Given the description of an element on the screen output the (x, y) to click on. 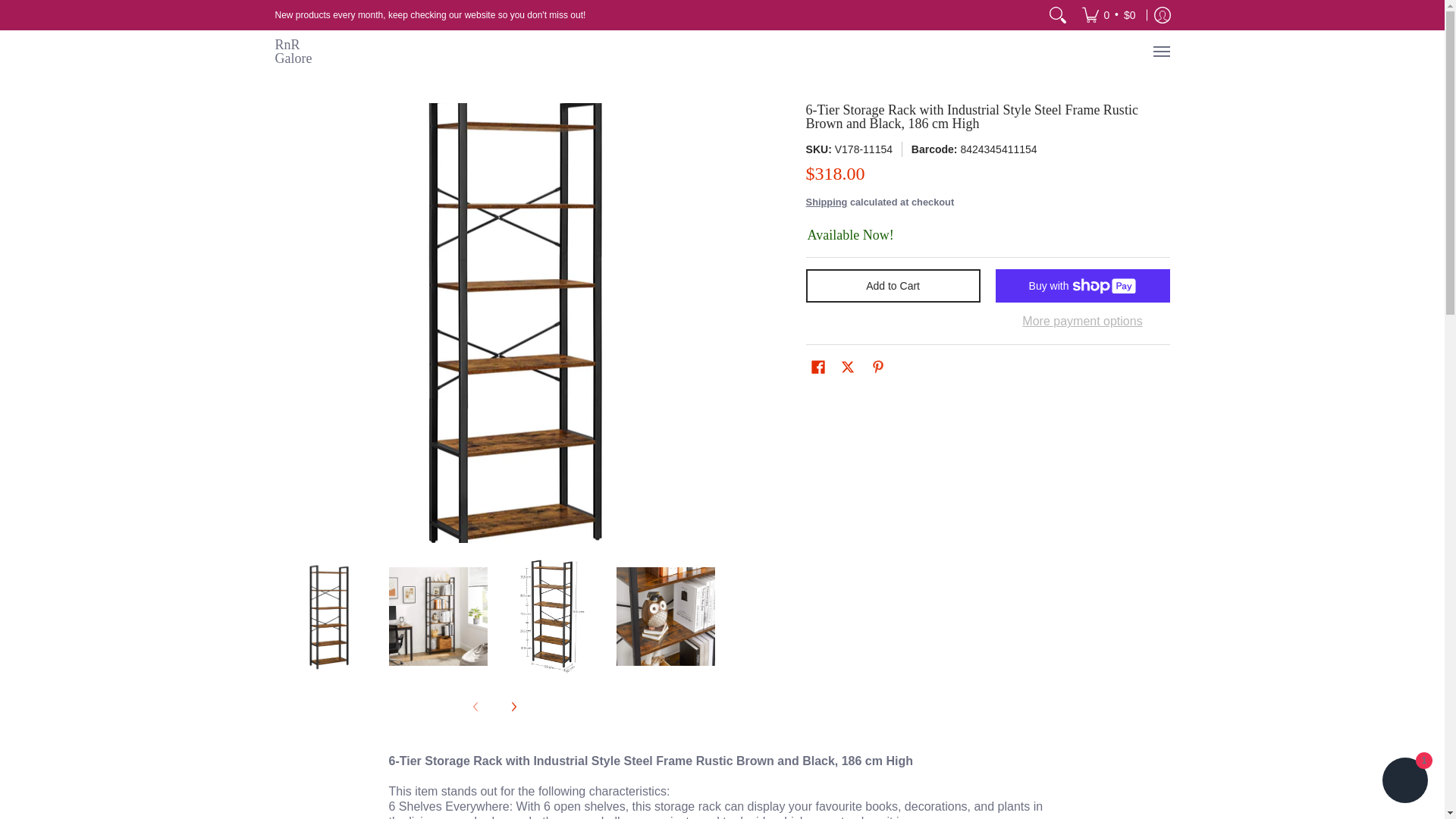
RnR Galore (304, 51)
Log in (1161, 15)
Cart (1108, 15)
RnR Galore (304, 51)
